Given the description of an element on the screen output the (x, y) to click on. 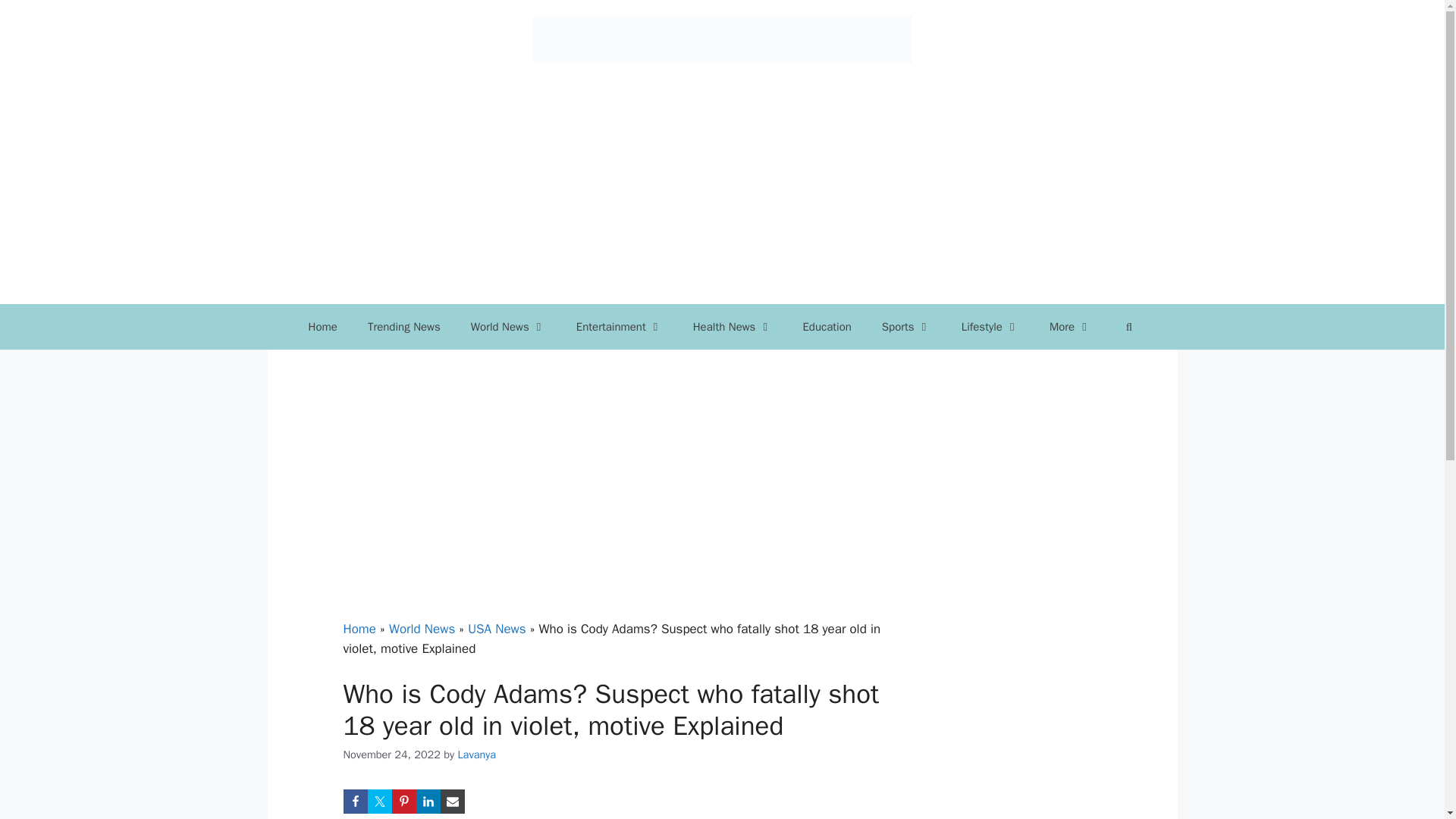
Share on Facebook (354, 801)
View all posts by Lavanya (476, 754)
Home (323, 326)
Share on Twitter (378, 801)
Entertainment (619, 326)
Share via Email (451, 801)
Share on Pinterest (402, 801)
World News (507, 326)
Sports (906, 326)
Trending News (403, 326)
